Given the description of an element on the screen output the (x, y) to click on. 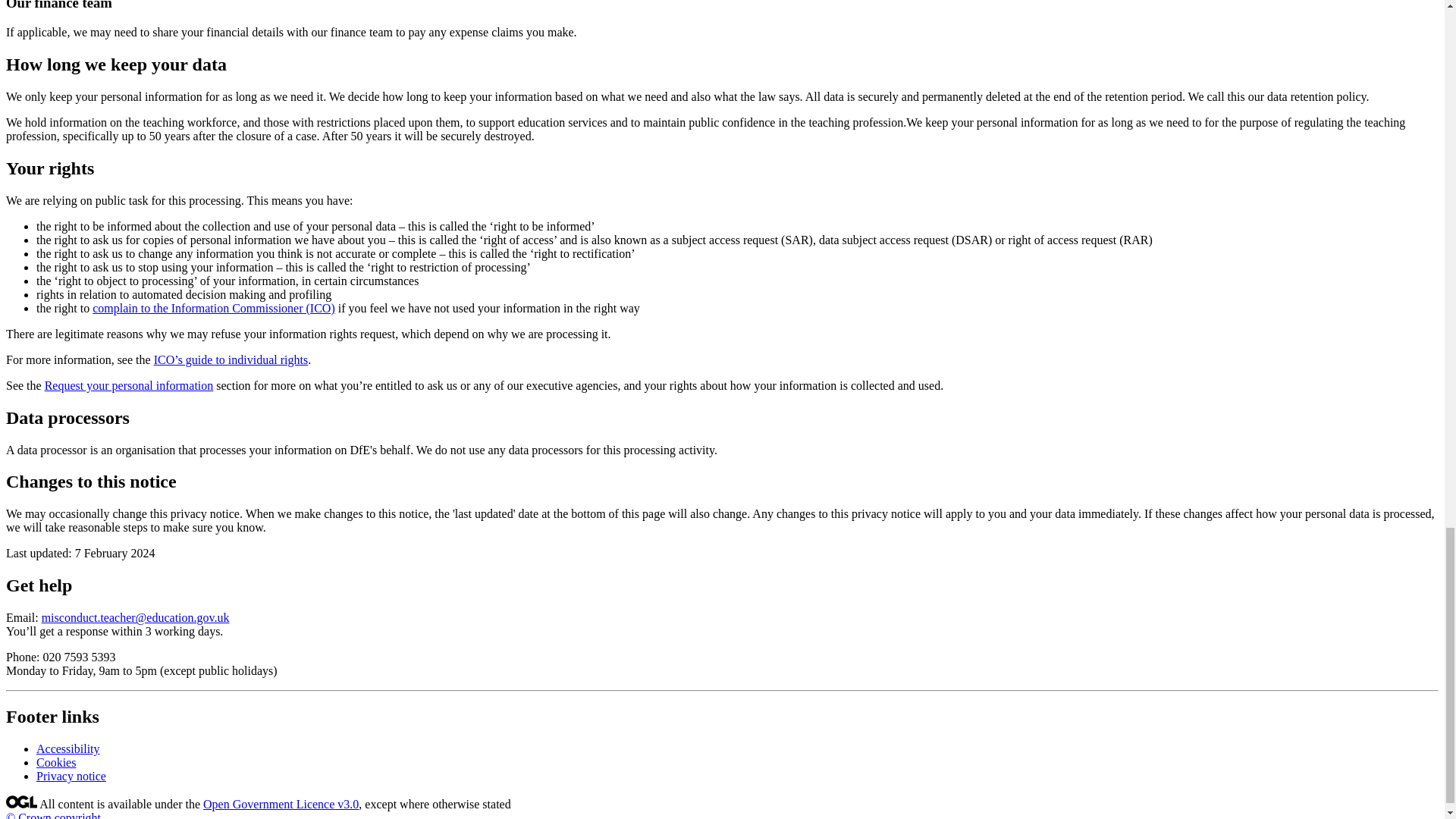
Open Government Licence v3.0 (280, 803)
Accessibility (68, 748)
Request your personal information (129, 385)
Privacy notice (71, 775)
Cookies (55, 762)
